Given the description of an element on the screen output the (x, y) to click on. 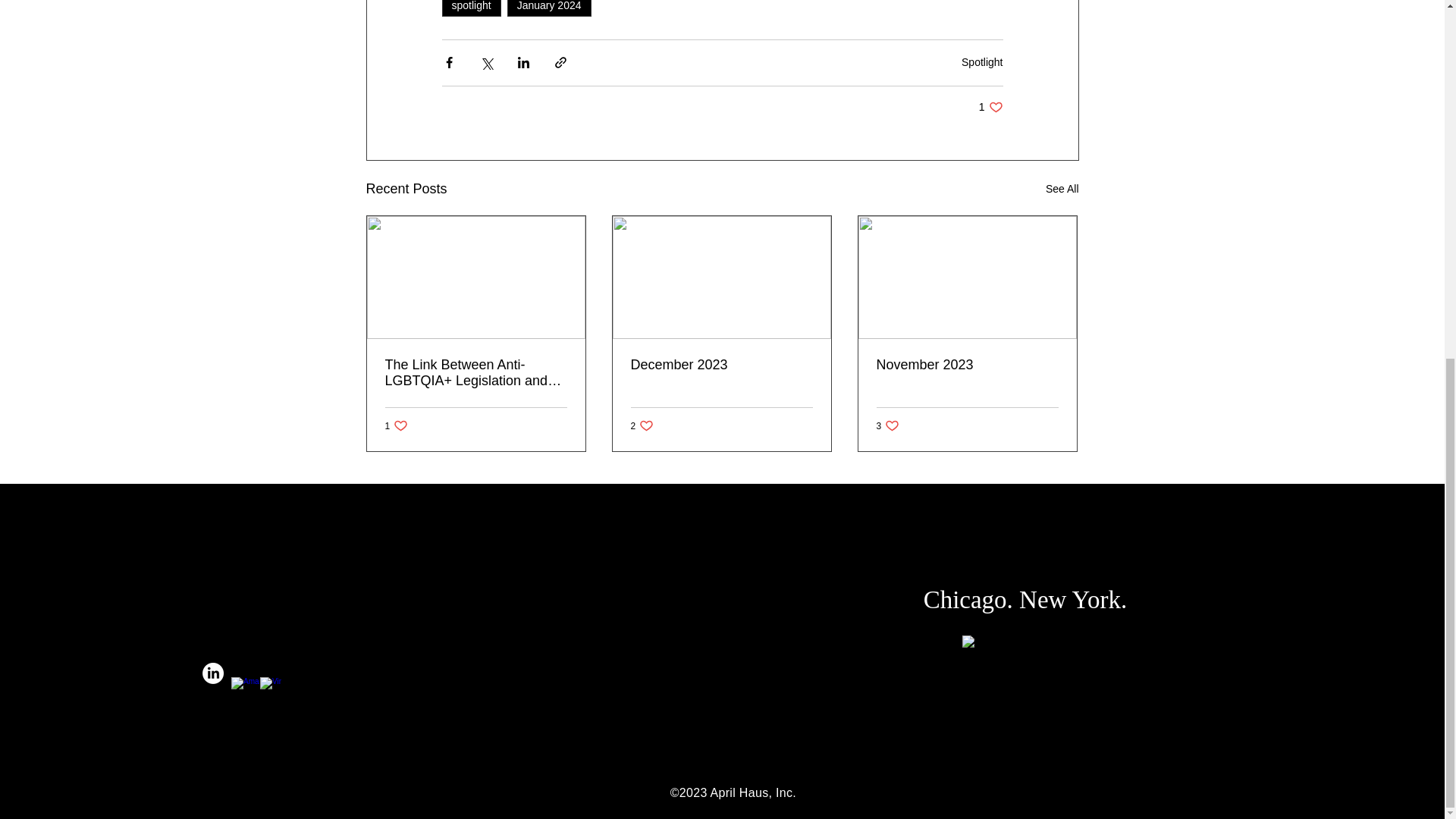
November 2023 (967, 365)
January 2024 (887, 425)
Spotlight (641, 425)
December 2023 (548, 8)
See All (981, 61)
spotlight (721, 365)
Heading.png (1061, 188)
